Given the description of an element on the screen output the (x, y) to click on. 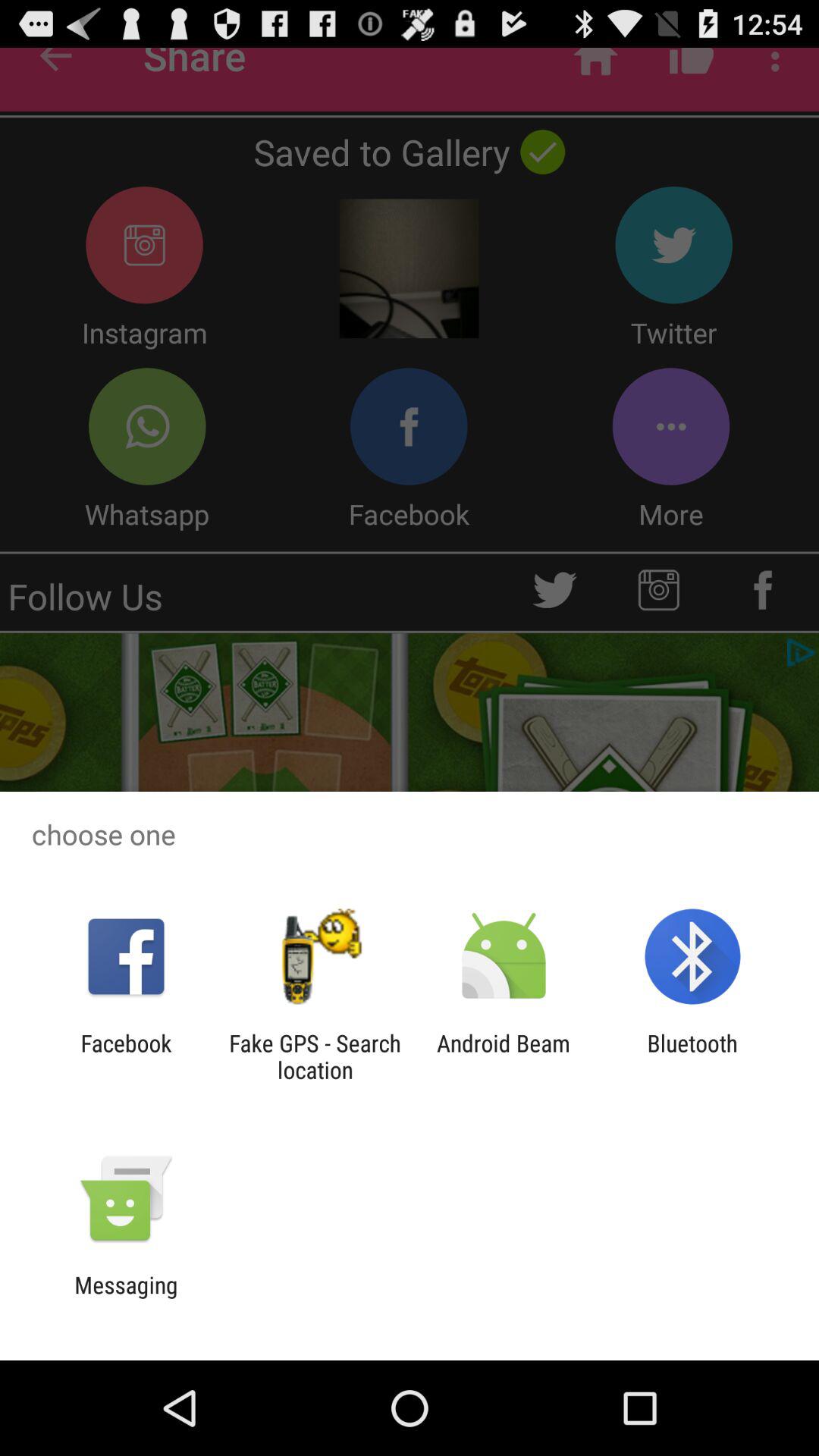
turn off item next to the fake gps search app (503, 1056)
